Given the description of an element on the screen output the (x, y) to click on. 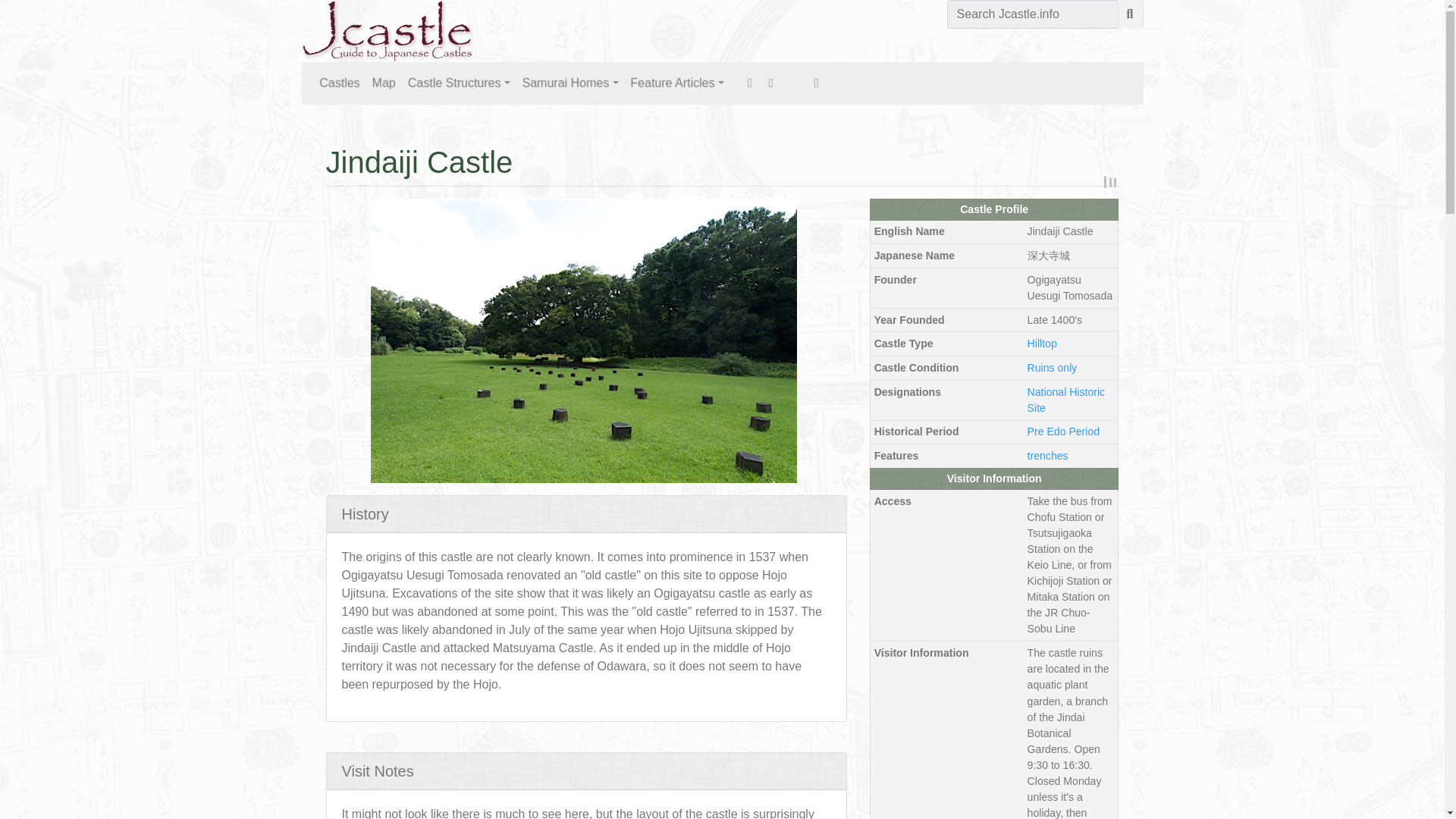
Castles (340, 82)
Visit the main page (386, 29)
Samurai Homes (570, 82)
Feature Articles (677, 82)
Map (383, 82)
Castle Structures (458, 82)
Go (1130, 14)
Go to a page with this exact name if it exists (1130, 14)
